Given the description of an element on the screen output the (x, y) to click on. 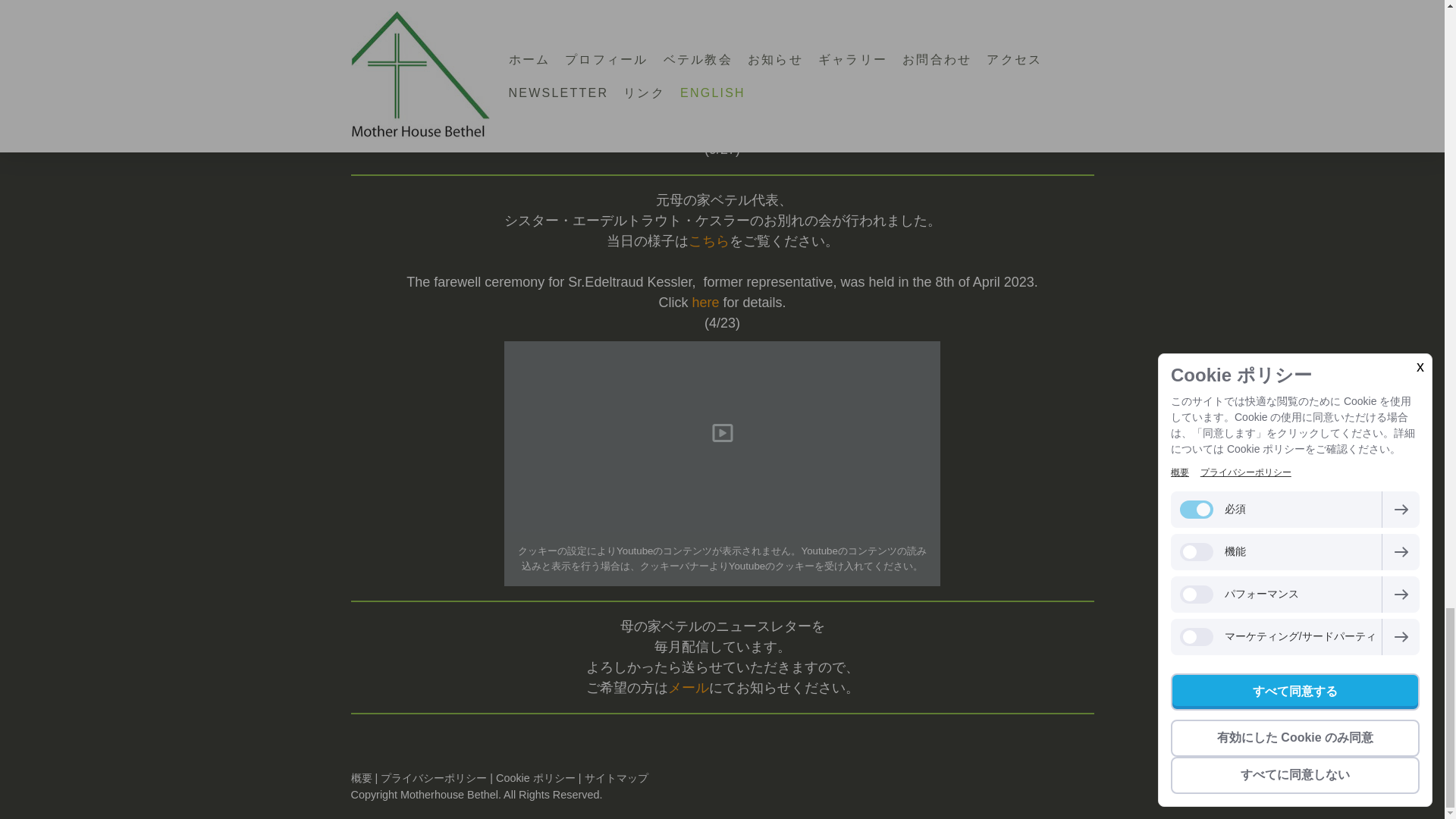
news (705, 302)
